Given the description of an element on the screen output the (x, y) to click on. 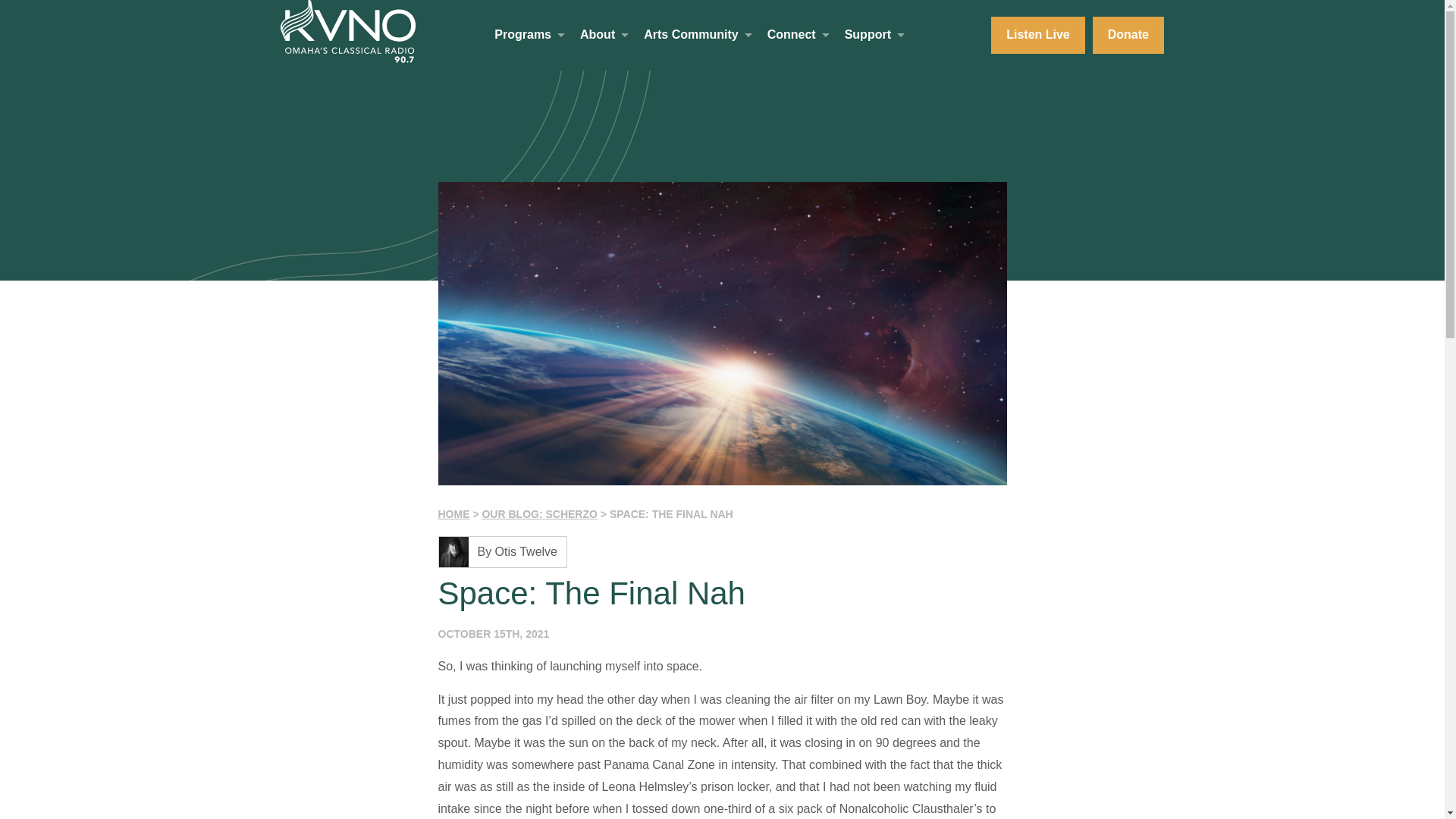
Support (867, 34)
About (596, 34)
Arts Community (690, 34)
HOME (454, 513)
Connect (791, 34)
Listen Live (1037, 35)
OUR BLOG: SCHERZO (538, 513)
Programs (523, 34)
Donate (1128, 35)
